Given the description of an element on the screen output the (x, y) to click on. 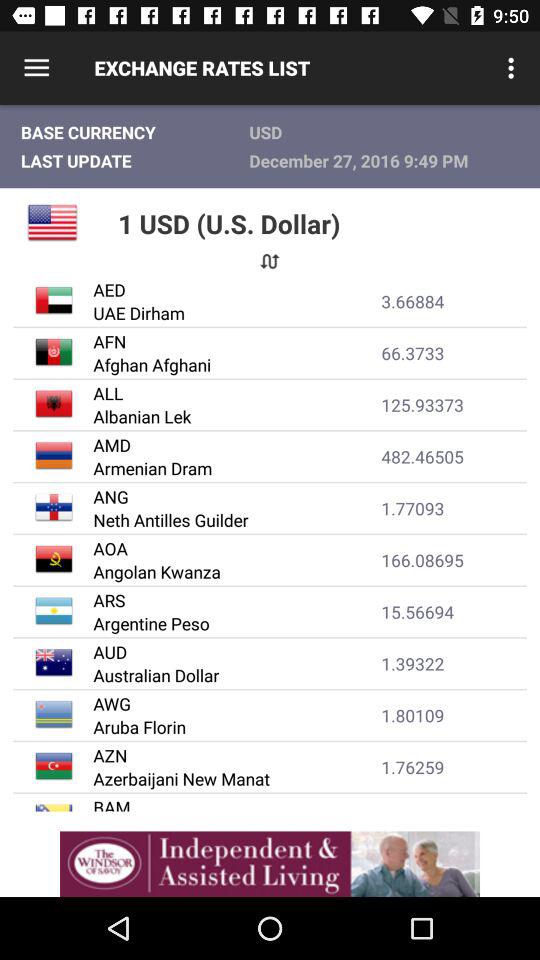
advertisement banner (270, 864)
